Given the description of an element on the screen output the (x, y) to click on. 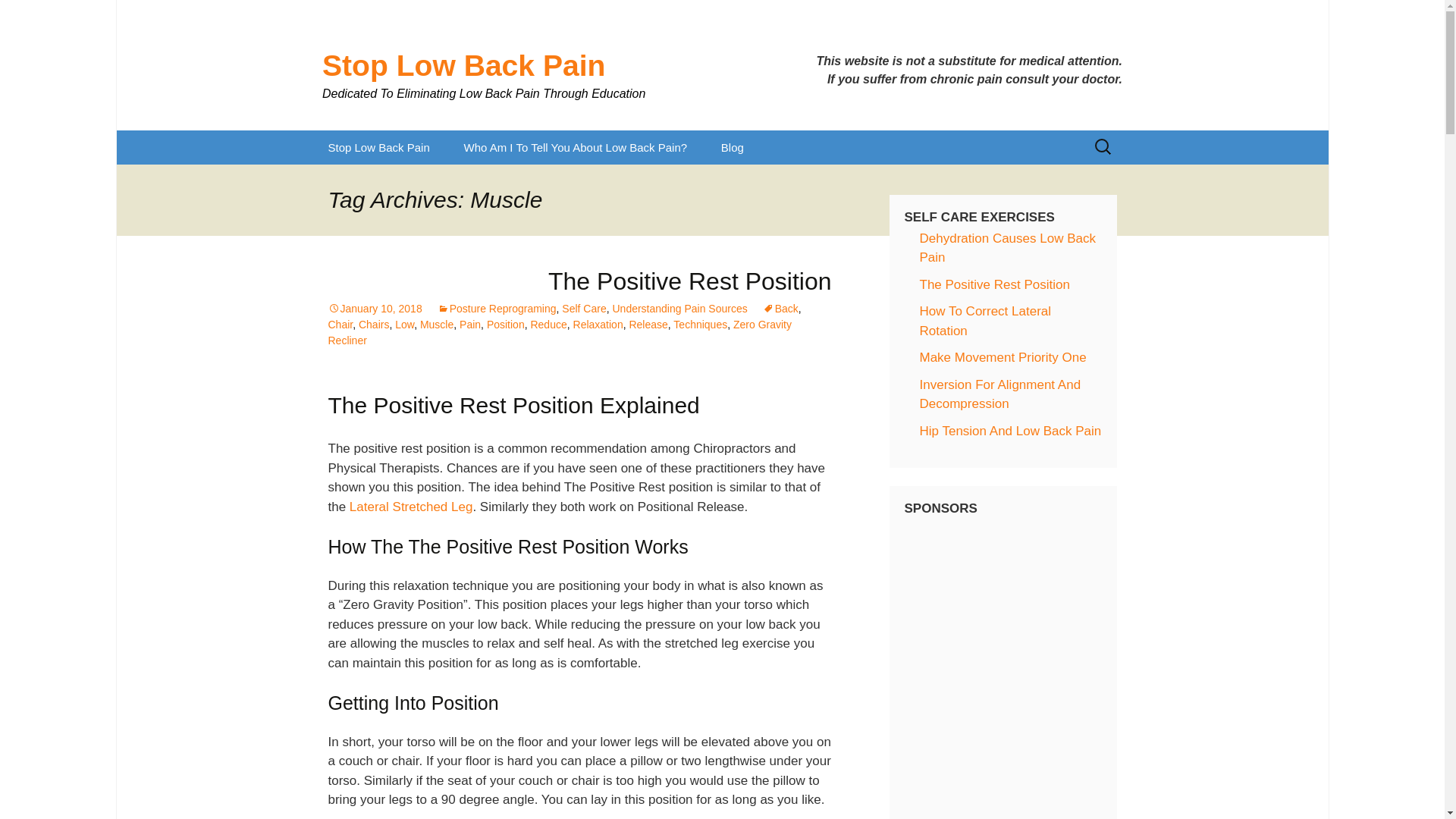
Back (779, 308)
Chairs (373, 324)
Stop Low Back Pain (511, 65)
Blog (732, 147)
Position (505, 324)
Chair (339, 324)
Low (403, 324)
Relaxation (598, 324)
Zero Gravity Recliner (558, 332)
Reduce (547, 324)
The Positive Rest Position (689, 280)
Self Care (583, 308)
Who Am I To Tell You About Low Back Pain? (574, 147)
Stop Low Back Pain (378, 147)
